Given the description of an element on the screen output the (x, y) to click on. 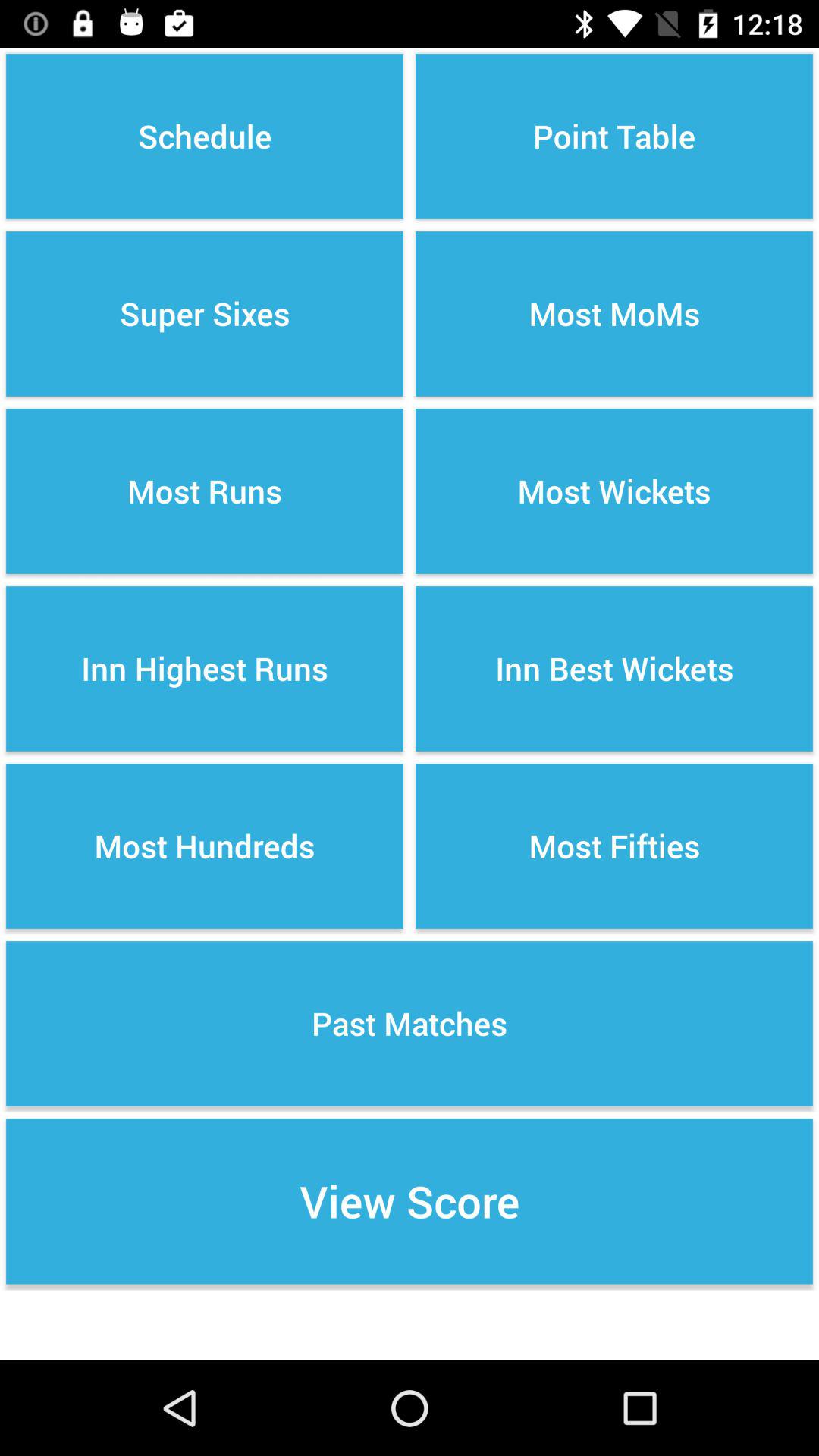
tap item below past matches button (409, 1201)
